Given the description of an element on the screen output the (x, y) to click on. 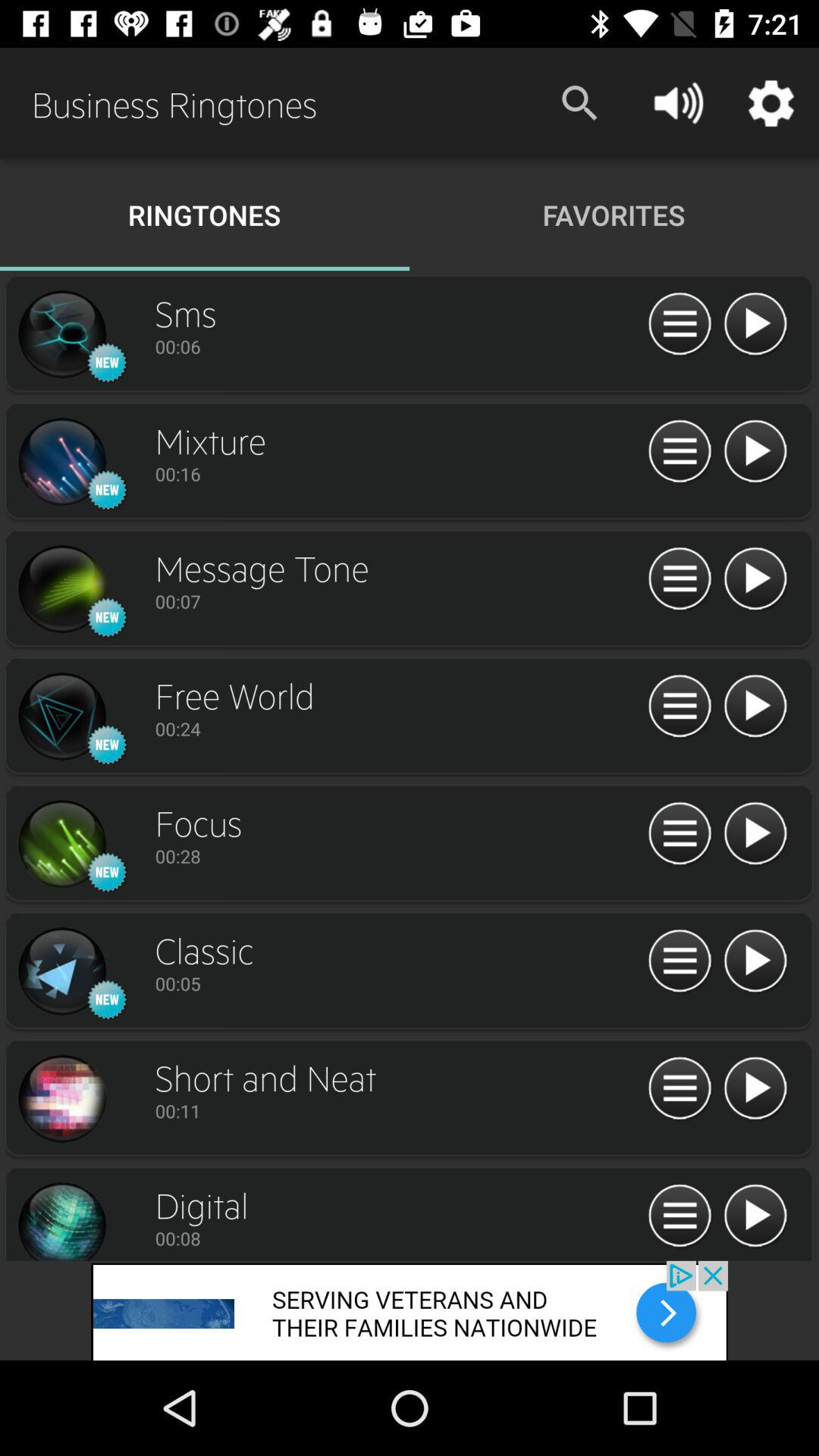
go to play (679, 1216)
